Given the description of an element on the screen output the (x, y) to click on. 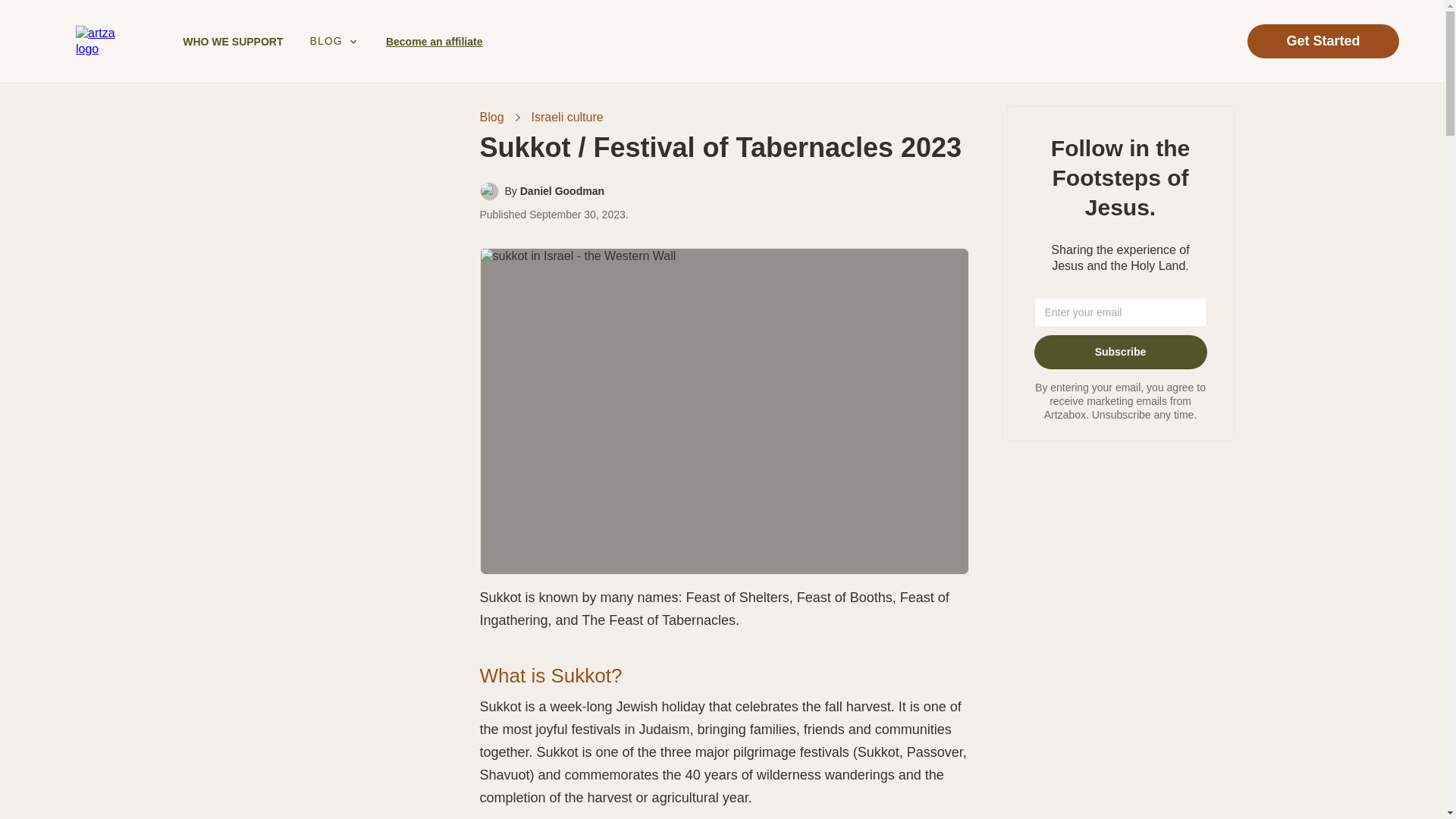
WHO WE SUPPORT (232, 41)
Become an affiliate (434, 41)
Get Started (1323, 41)
Israeli culture (567, 117)
Blog (491, 117)
What is Sukkot? (550, 675)
